Given the description of an element on the screen output the (x, y) to click on. 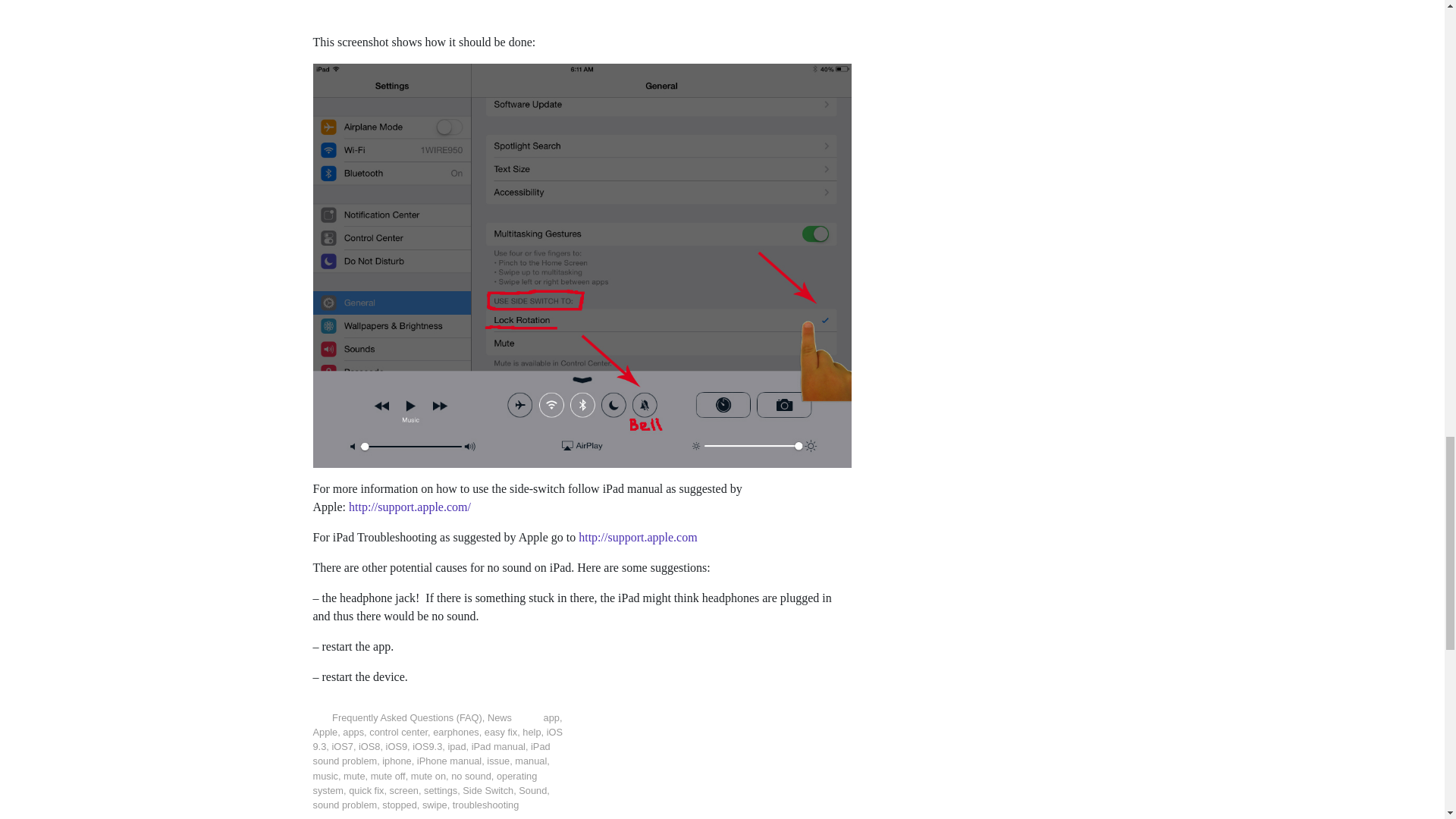
Apple (325, 731)
earphones (455, 731)
apps (353, 731)
News (499, 717)
app (551, 717)
control center (398, 731)
